Given the description of an element on the screen output the (x, y) to click on. 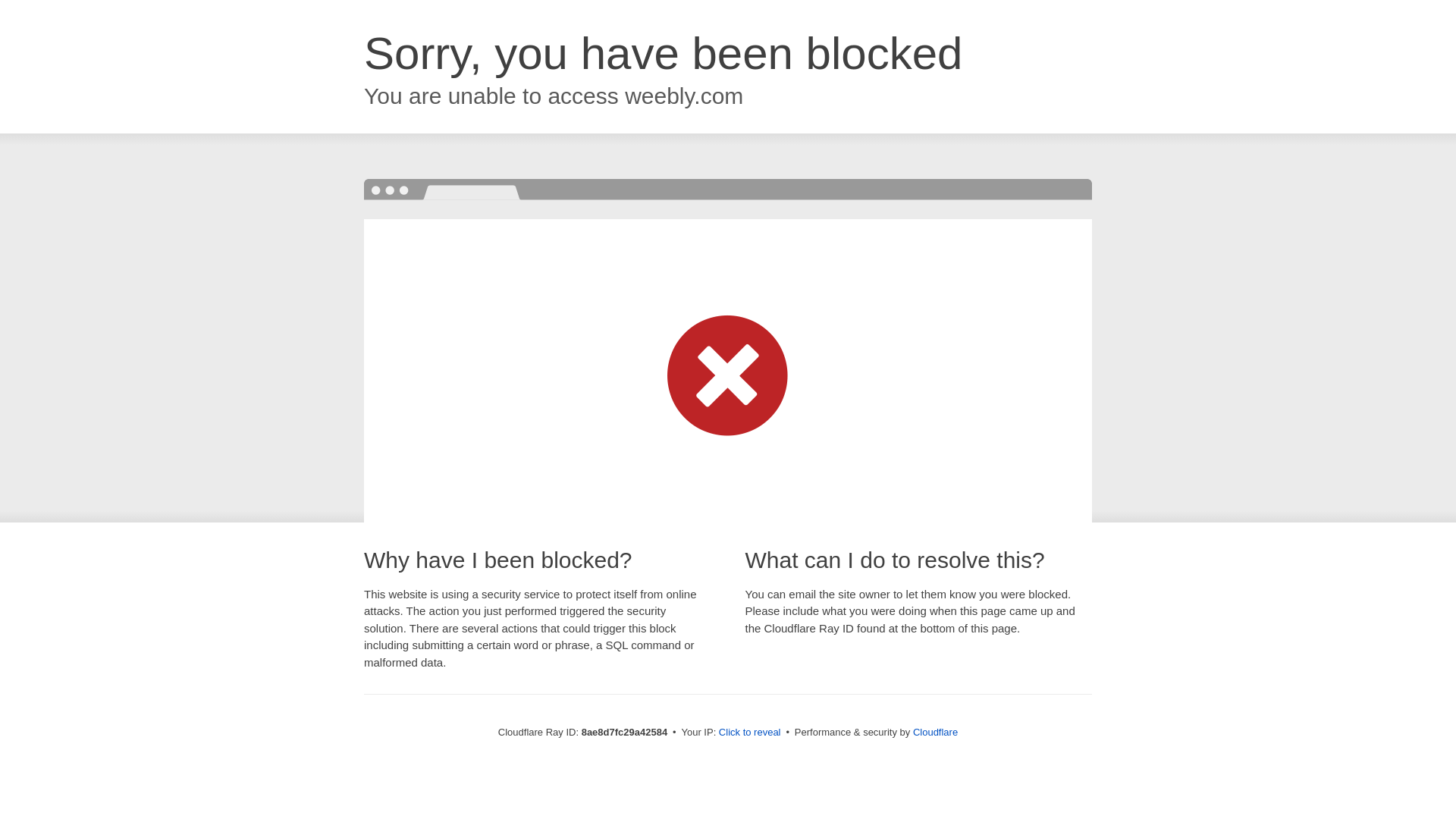
Cloudflare (935, 731)
Click to reveal (749, 732)
